Given the description of an element on the screen output the (x, y) to click on. 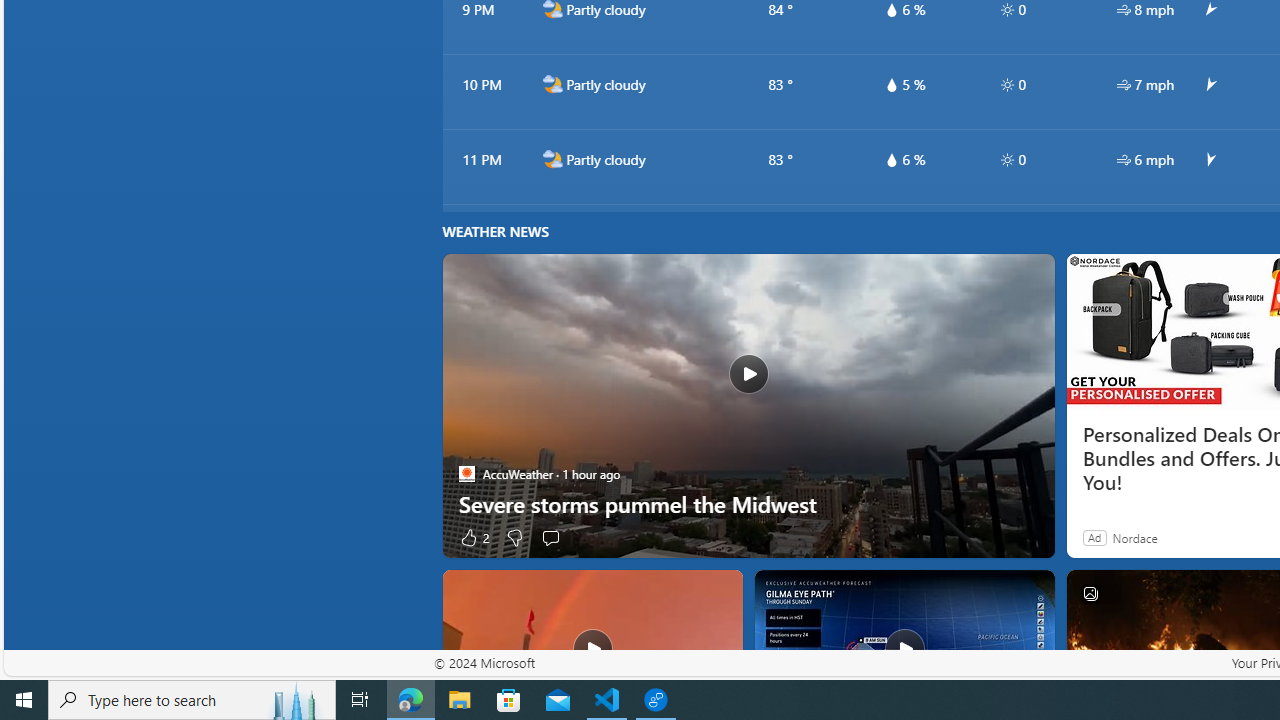
common/arrow (1209, 160)
hourlyTable/drop (891, 159)
